Given the description of an element on the screen output the (x, y) to click on. 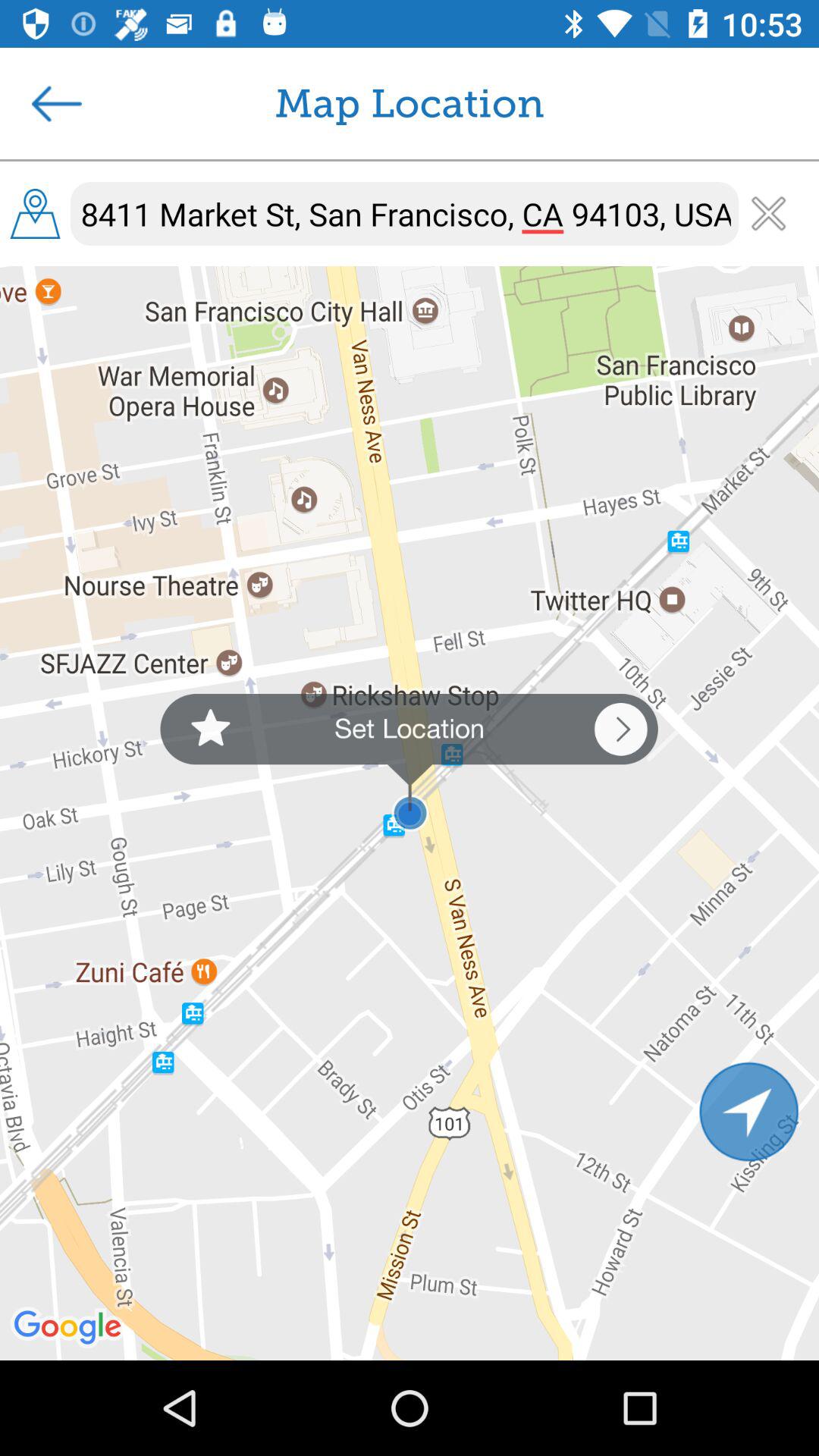
launch the icon next to the map location icon (56, 103)
